Given the description of an element on the screen output the (x, y) to click on. 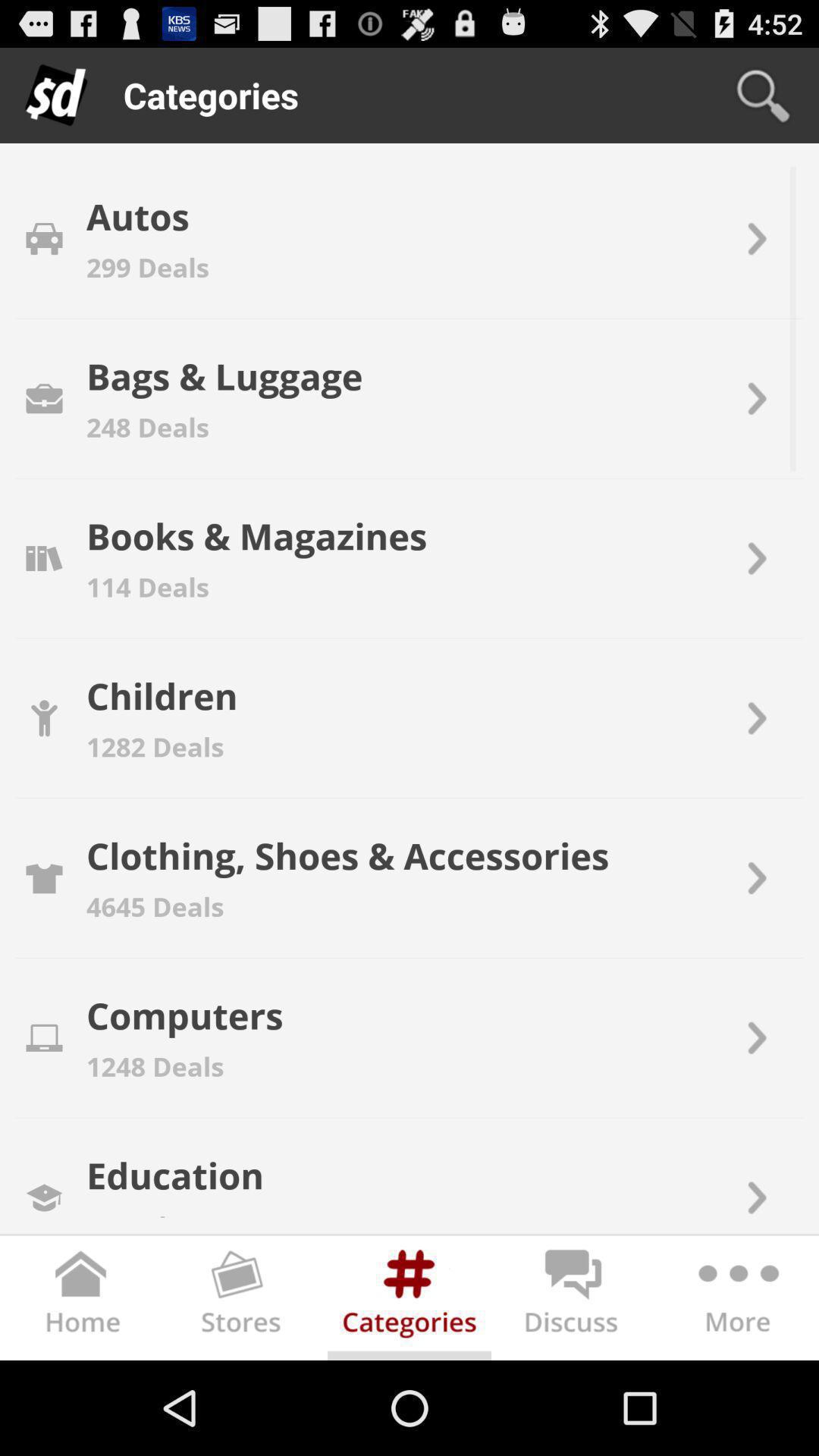
categories (409, 1301)
